Given the description of an element on the screen output the (x, y) to click on. 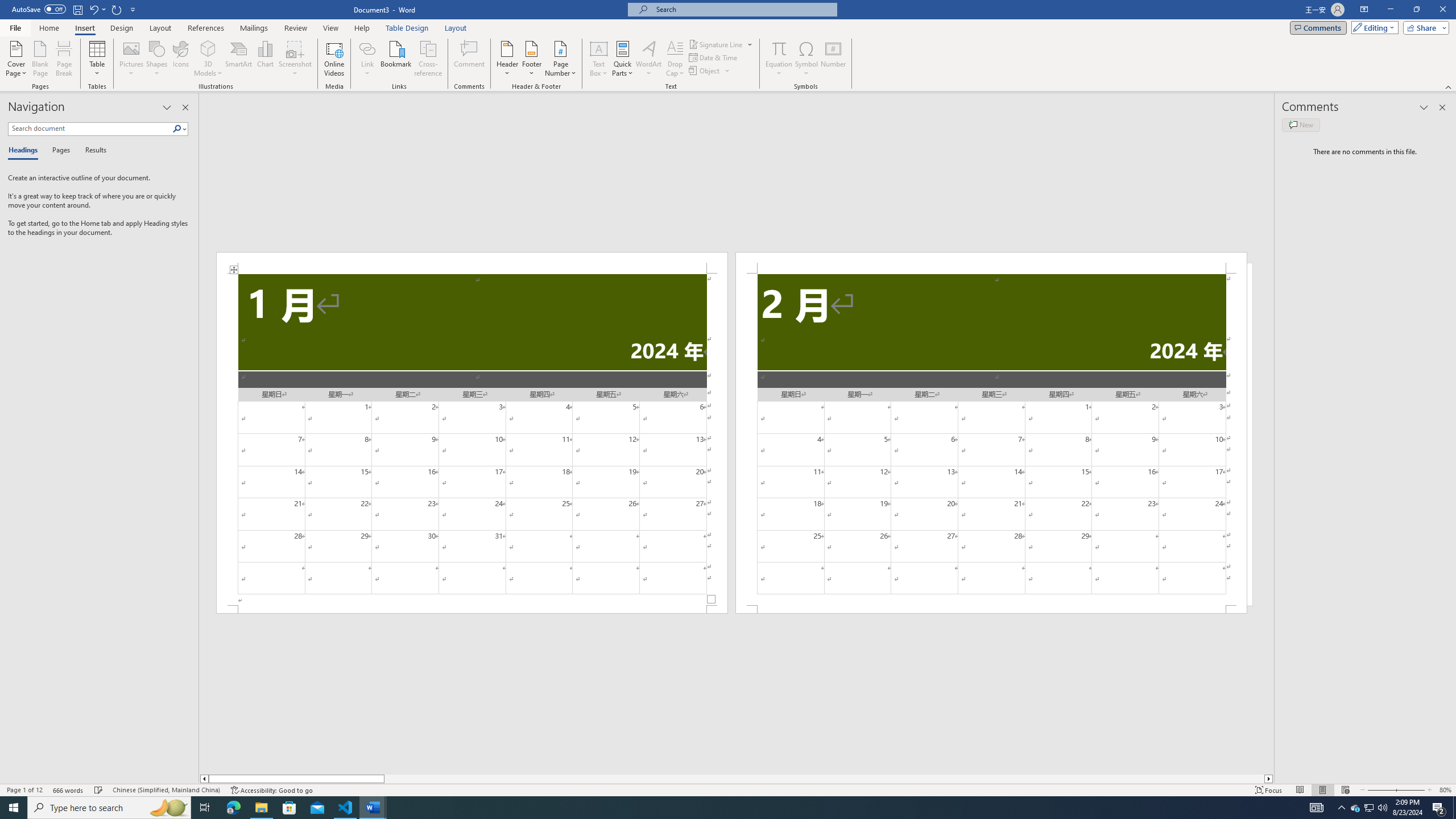
Table Design (407, 28)
Undo Increase Indent (92, 9)
Column left (203, 778)
Class: MsoCommandBar (728, 789)
Word Count 666 words (68, 790)
Cross-reference... (428, 58)
Equation (778, 58)
